Given the description of an element on the screen output the (x, y) to click on. 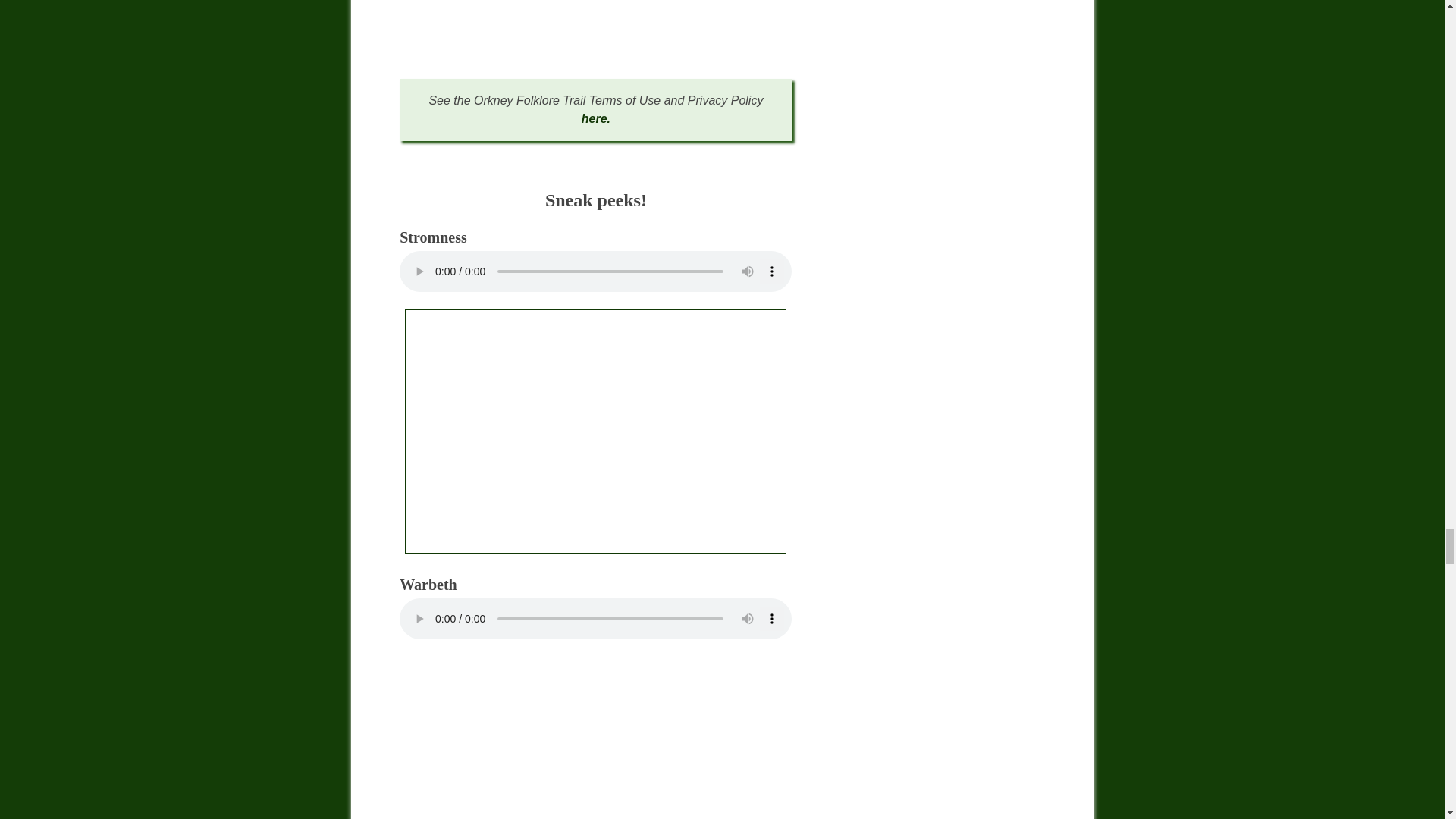
Stromness (595, 431)
10 story points to discover! (595, 23)
Trail to the Black Craig (595, 737)
